Given the description of an element on the screen output the (x, y) to click on. 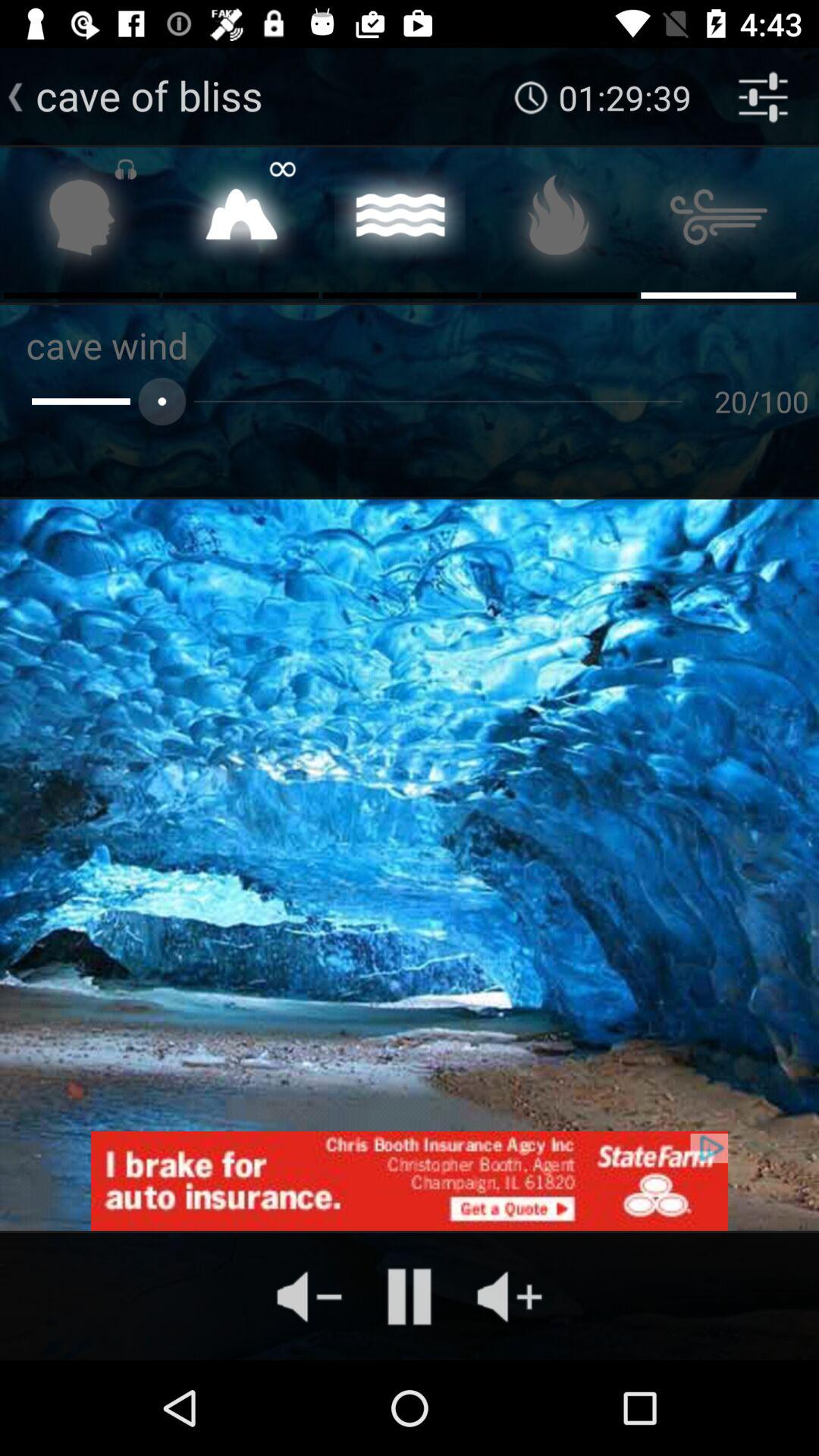
place selection (240, 221)
